Given the description of an element on the screen output the (x, y) to click on. 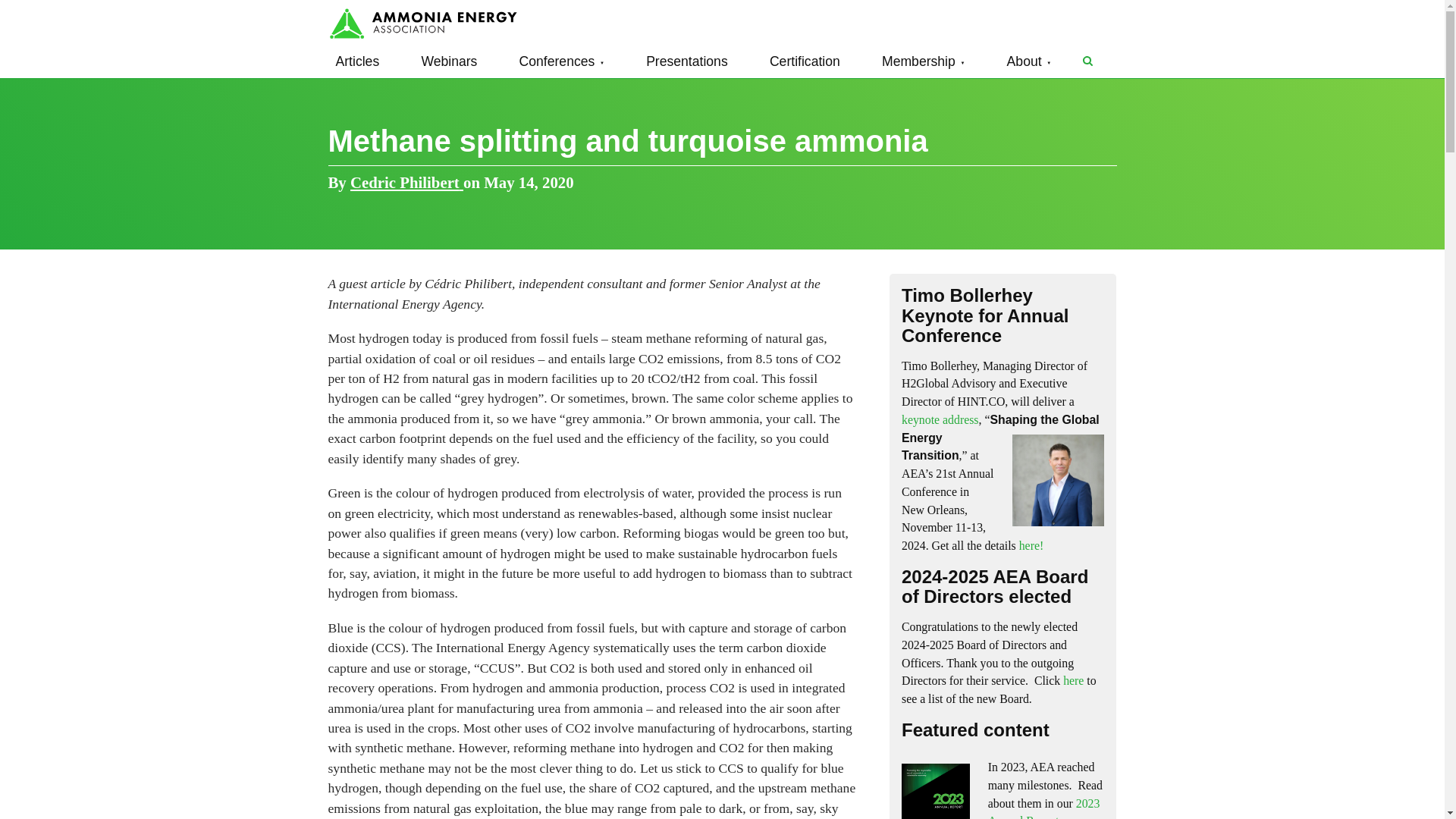
Cedric Philibert (406, 181)
Conferences (561, 60)
Certification (804, 60)
About (1028, 60)
Presentations (687, 60)
Search (1088, 61)
Articles (357, 60)
Membership (923, 60)
Webinars (448, 60)
